Given the description of an element on the screen output the (x, y) to click on. 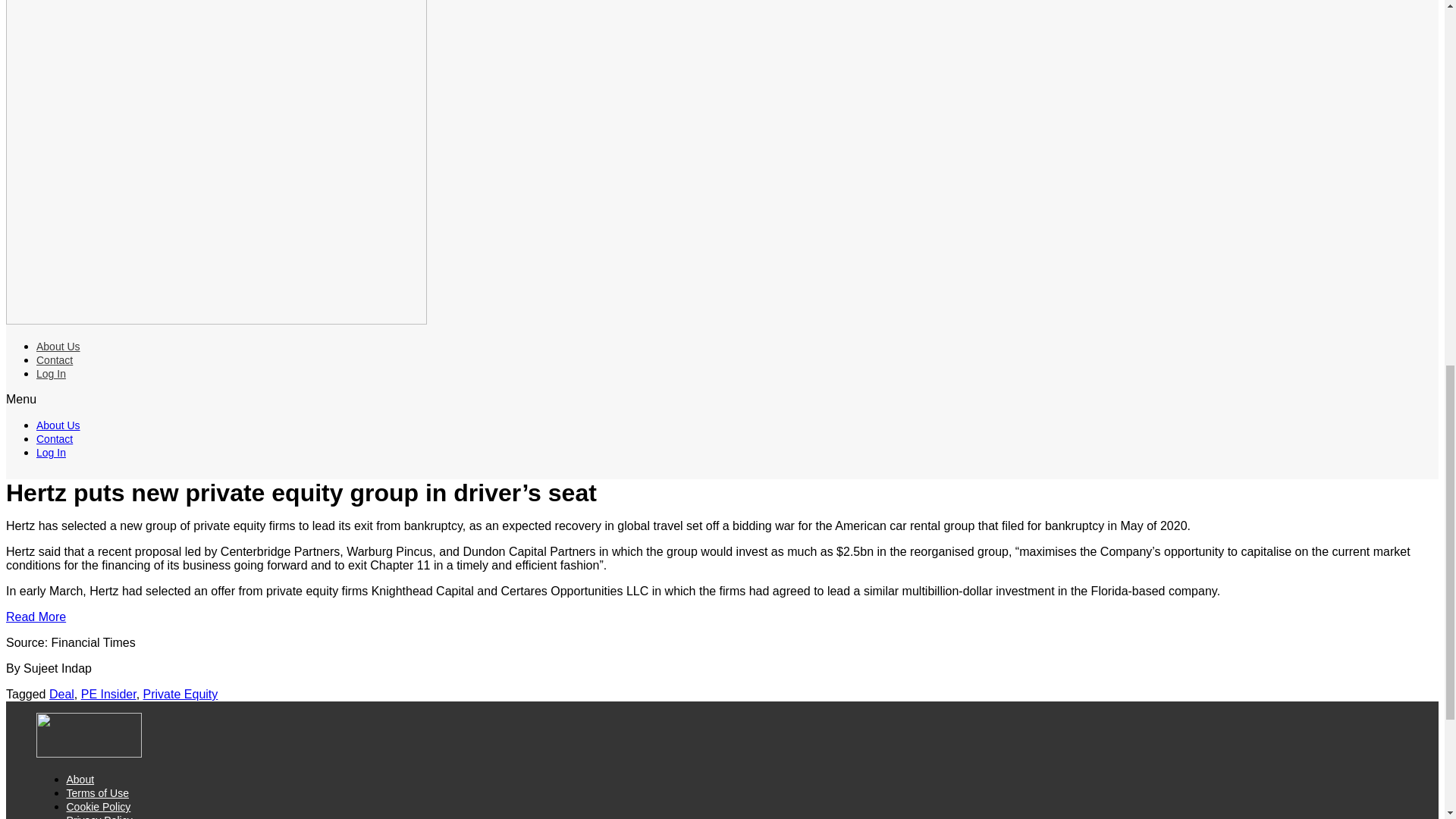
PE Insider (108, 694)
Contact (54, 439)
Read More (35, 616)
Log In (50, 452)
Privacy Policy (99, 816)
Private Equity (180, 694)
Contact (54, 359)
About Us (58, 425)
About (80, 779)
Terms of Use (97, 793)
Deal (61, 694)
About Us (58, 346)
Cookie Policy (98, 806)
Log In (50, 373)
